Given the description of an element on the screen output the (x, y) to click on. 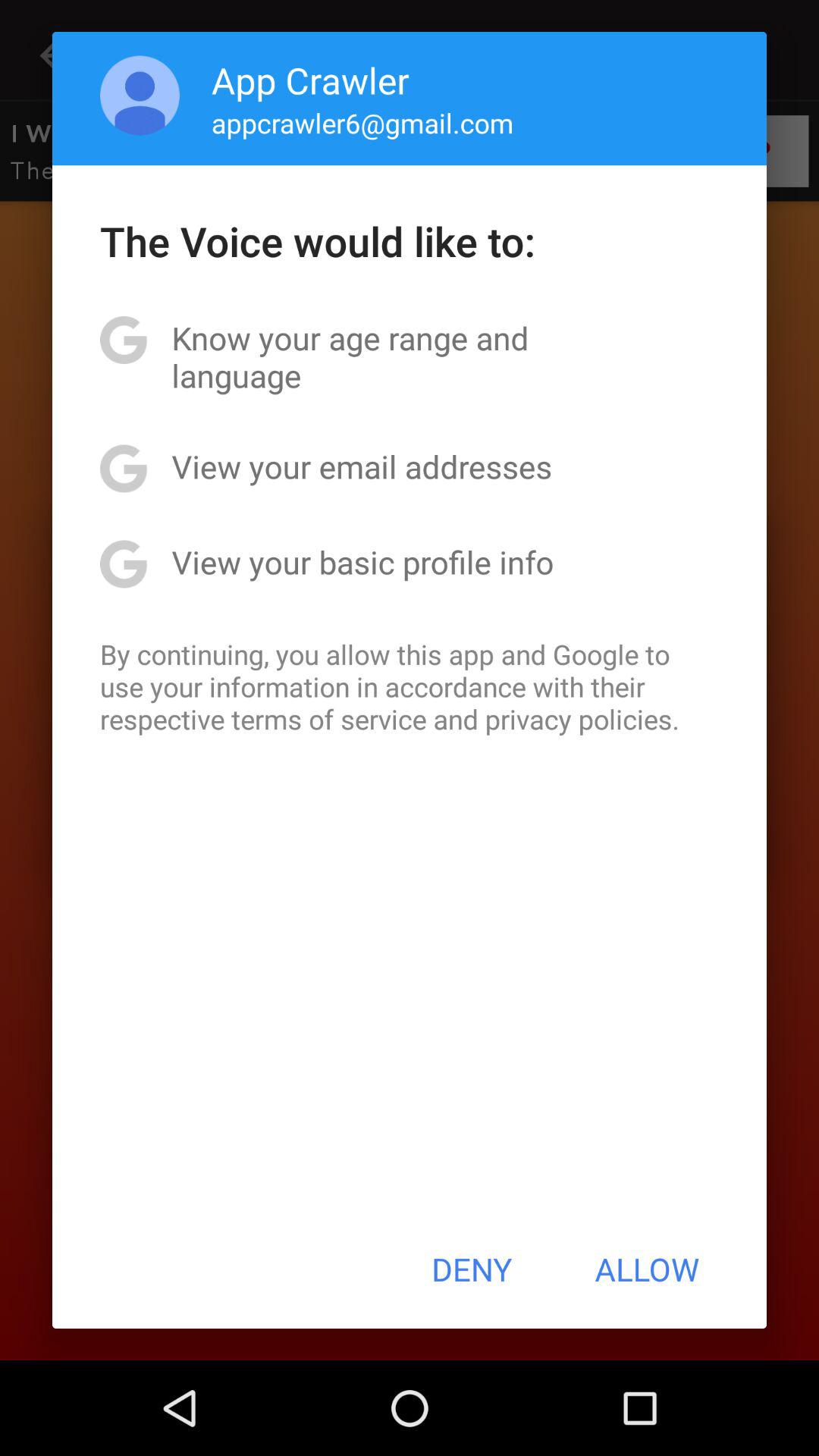
flip to deny button (471, 1268)
